Given the description of an element on the screen output the (x, y) to click on. 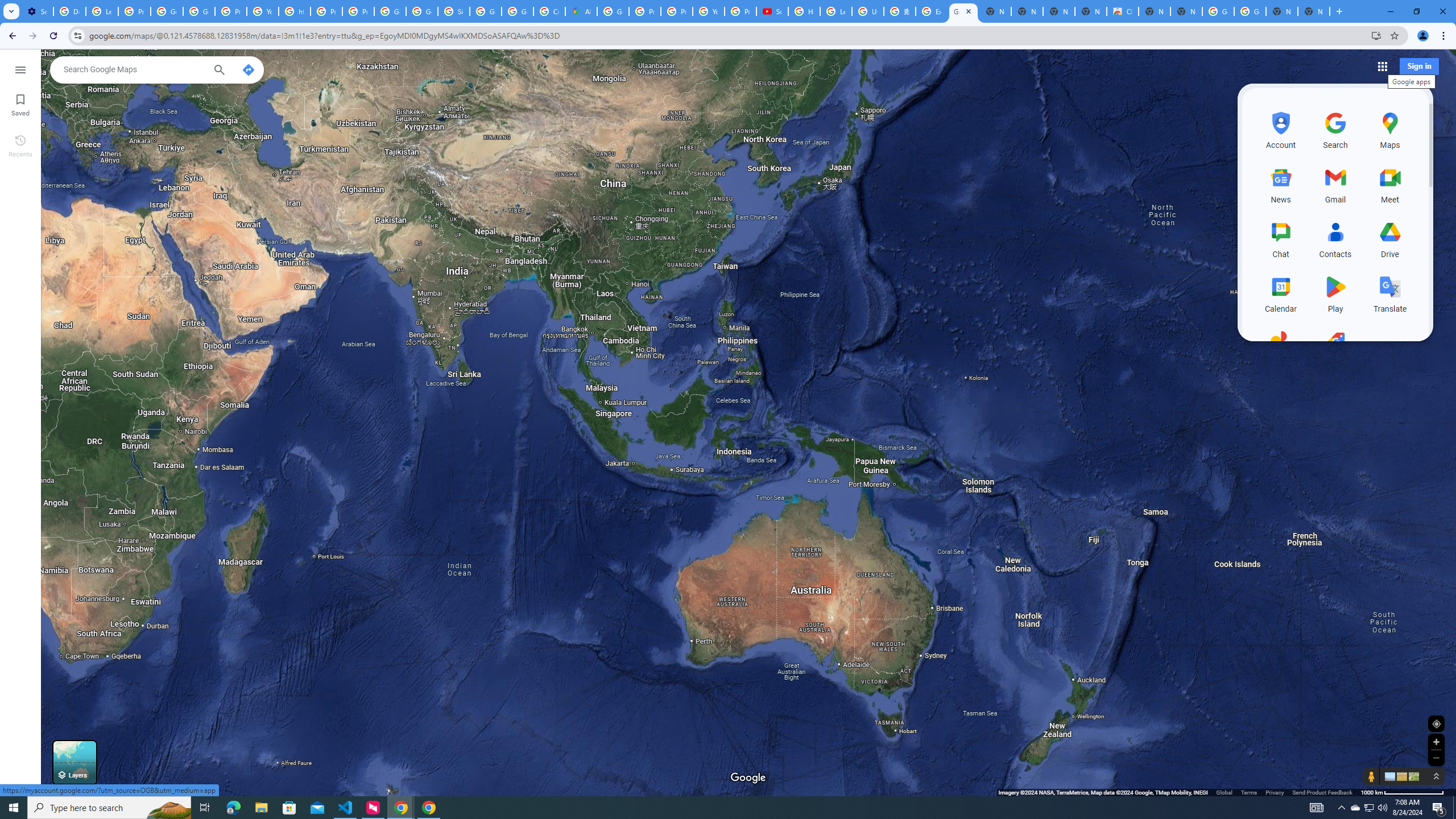
Google Images (1249, 11)
YouTube (262, 11)
Menu (20, 68)
How Chrome protects your passwords - Google Chrome Help (804, 11)
Install Google Maps (1376, 35)
Show imagery (1412, 776)
Privacy Help Center - Policies Help (326, 11)
